Given the description of an element on the screen output the (x, y) to click on. 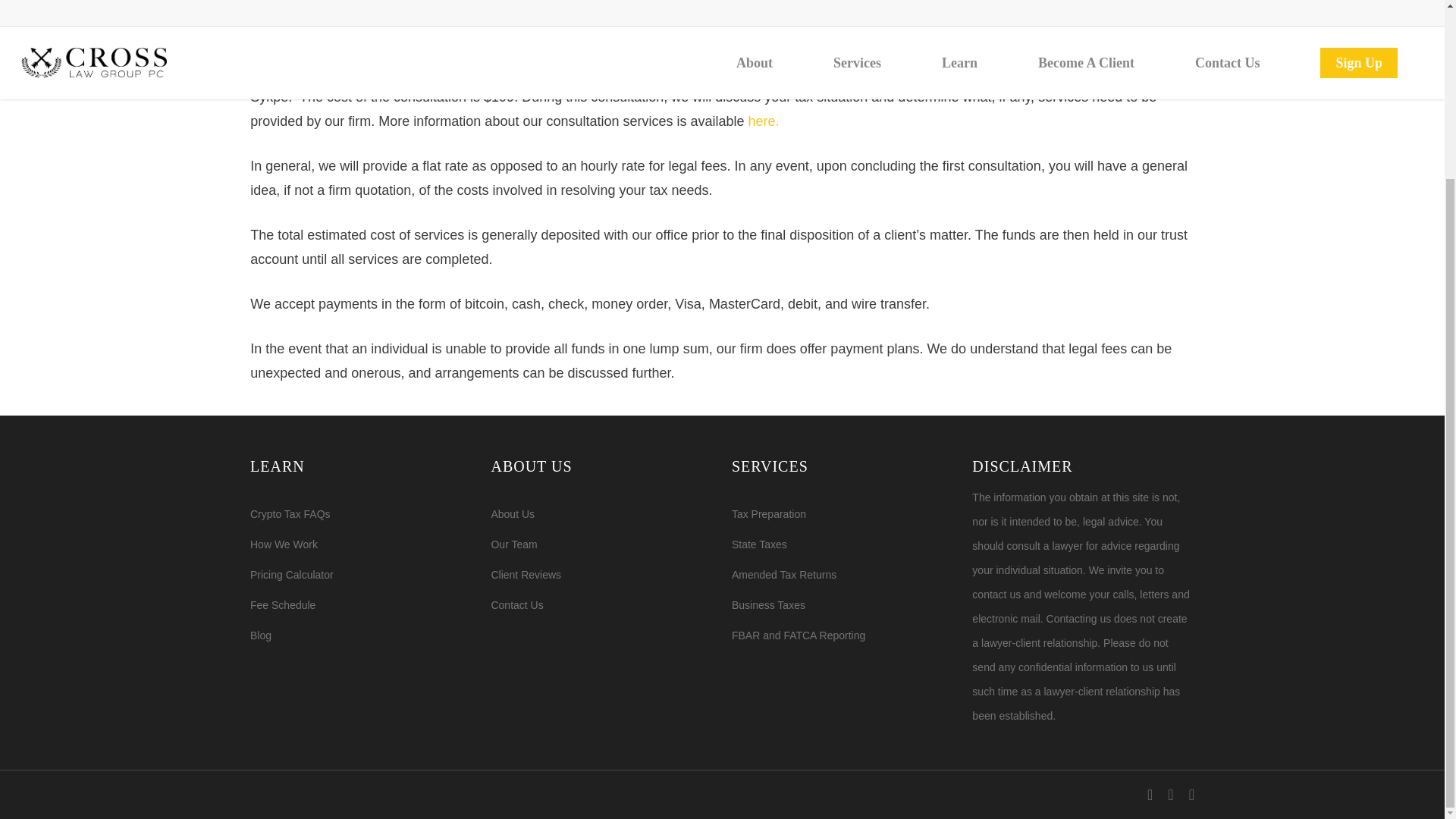
State Taxes (842, 544)
Our Team (601, 544)
Fee Schedule (360, 604)
Client Reviews (601, 574)
FBAR and FATCA Reporting (842, 635)
About Us (601, 514)
here. (763, 120)
Contact Us (601, 604)
Pricing Calculator (360, 574)
Business Taxes (842, 604)
Amended Tax Returns (842, 574)
Crypto Tax FAQs (360, 514)
Tax Preparation (842, 514)
How We Work (360, 544)
Blog (360, 635)
